Given the description of an element on the screen output the (x, y) to click on. 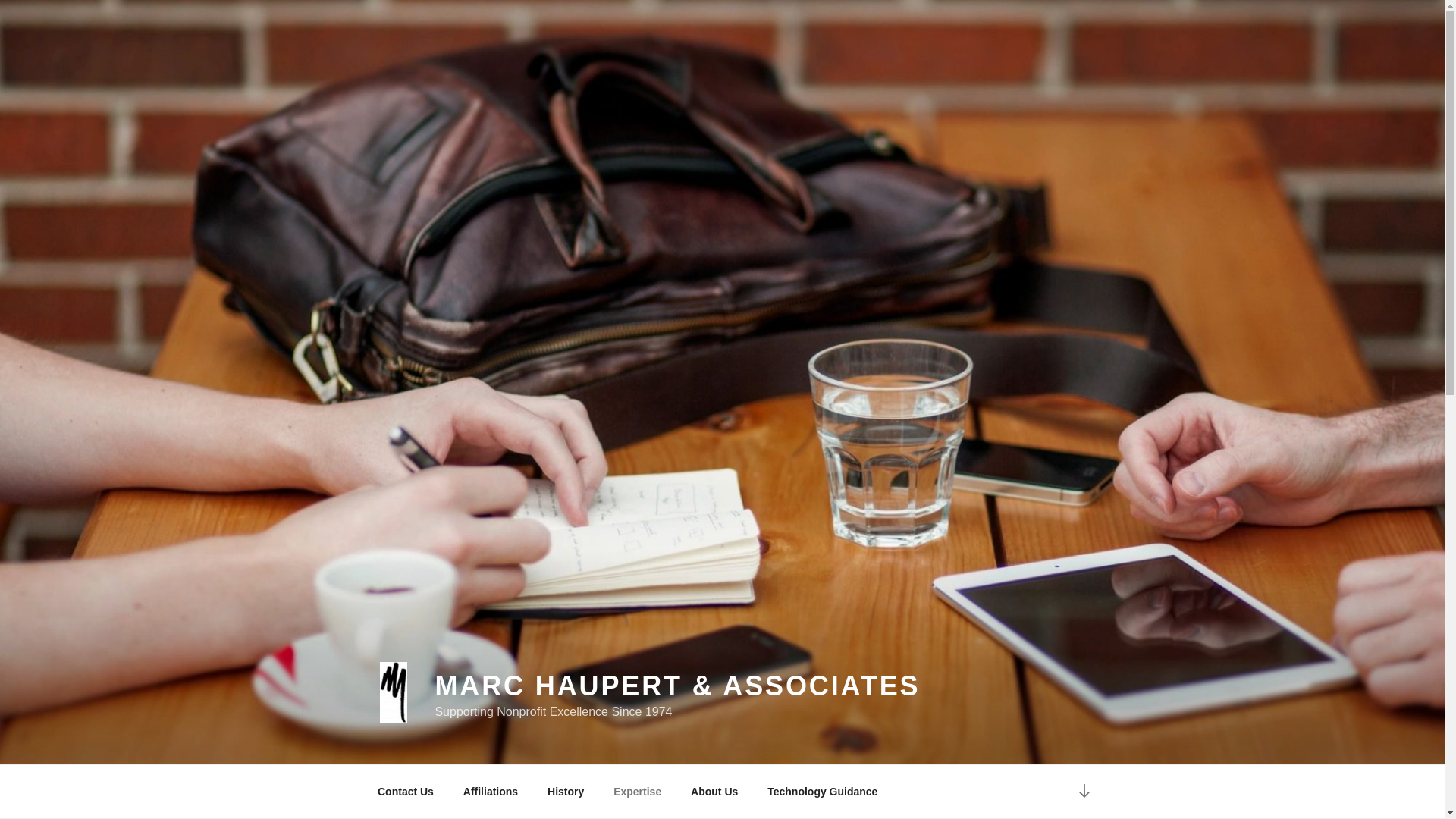
Contact Us (405, 791)
Scroll down to content (1082, 791)
Affiliations (490, 791)
Scroll down to content (1082, 791)
Expertise (637, 791)
Technology Guidance (822, 791)
History (565, 791)
About Us (714, 791)
